Given the description of an element on the screen output the (x, y) to click on. 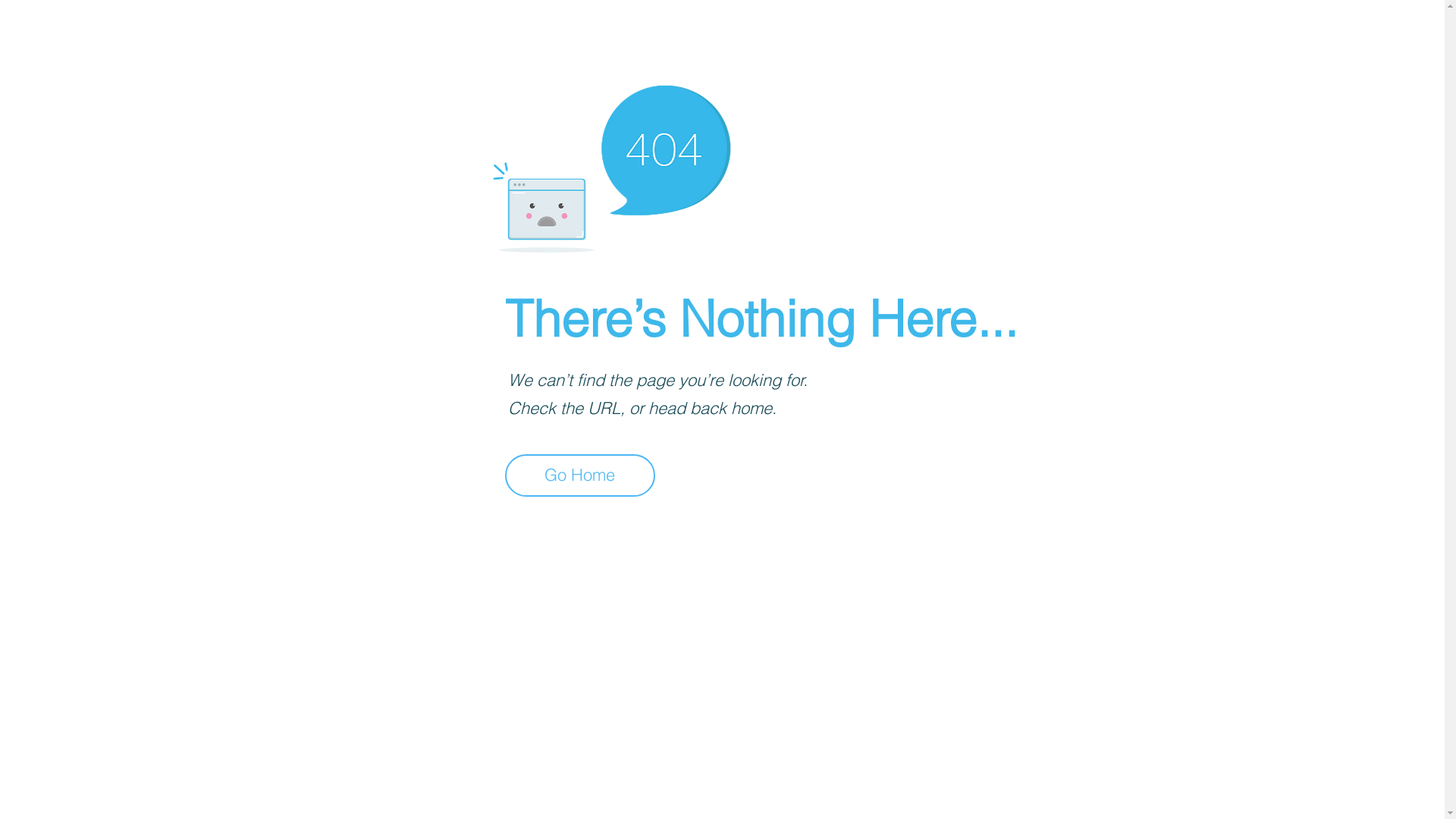
404-icon_2.png Element type: hover (610, 164)
Go Home Element type: text (580, 475)
